Given the description of an element on the screen output the (x, y) to click on. 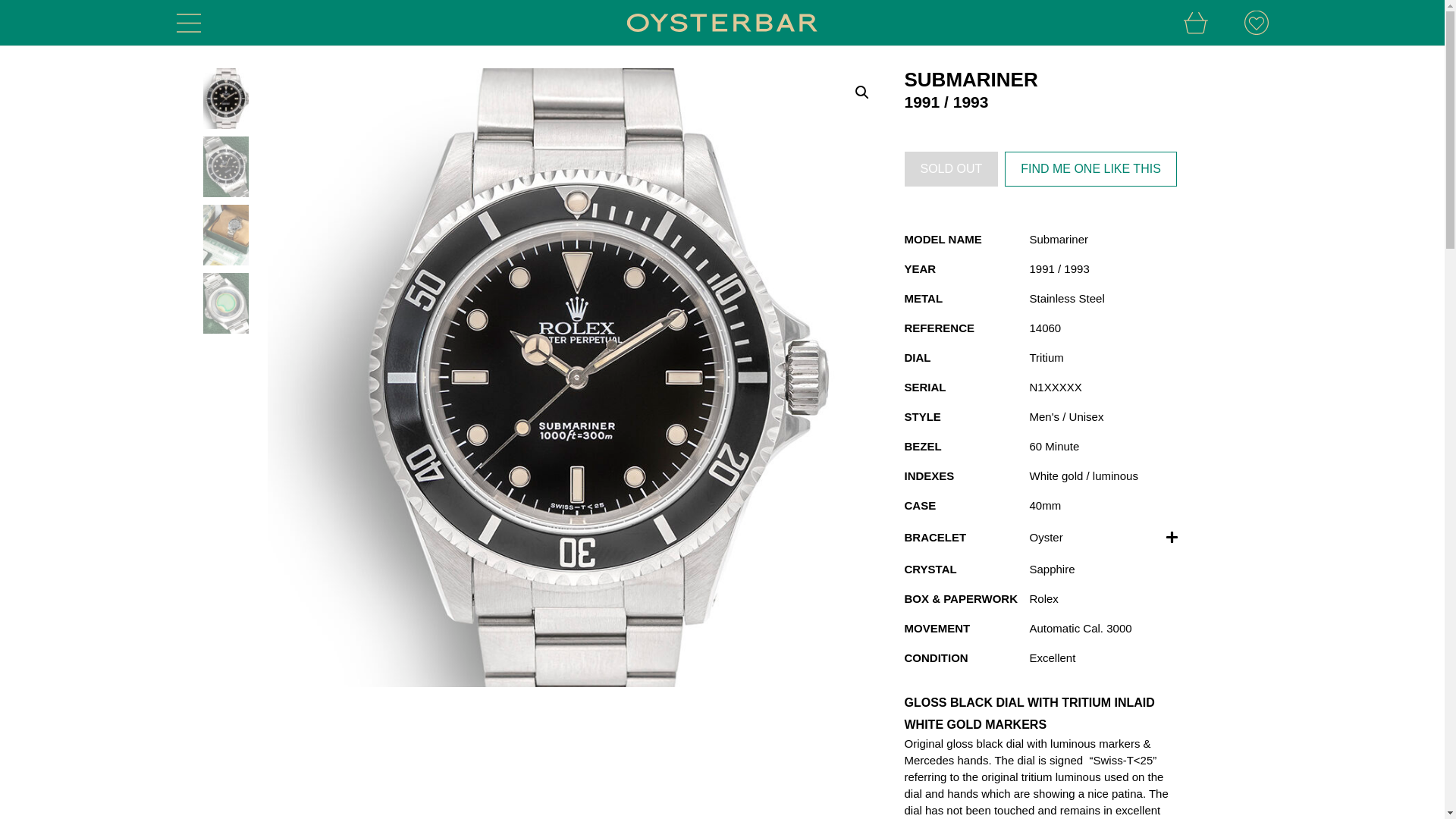
FIND ME ONE LIKE THIS (1090, 168)
